Given the description of an element on the screen output the (x, y) to click on. 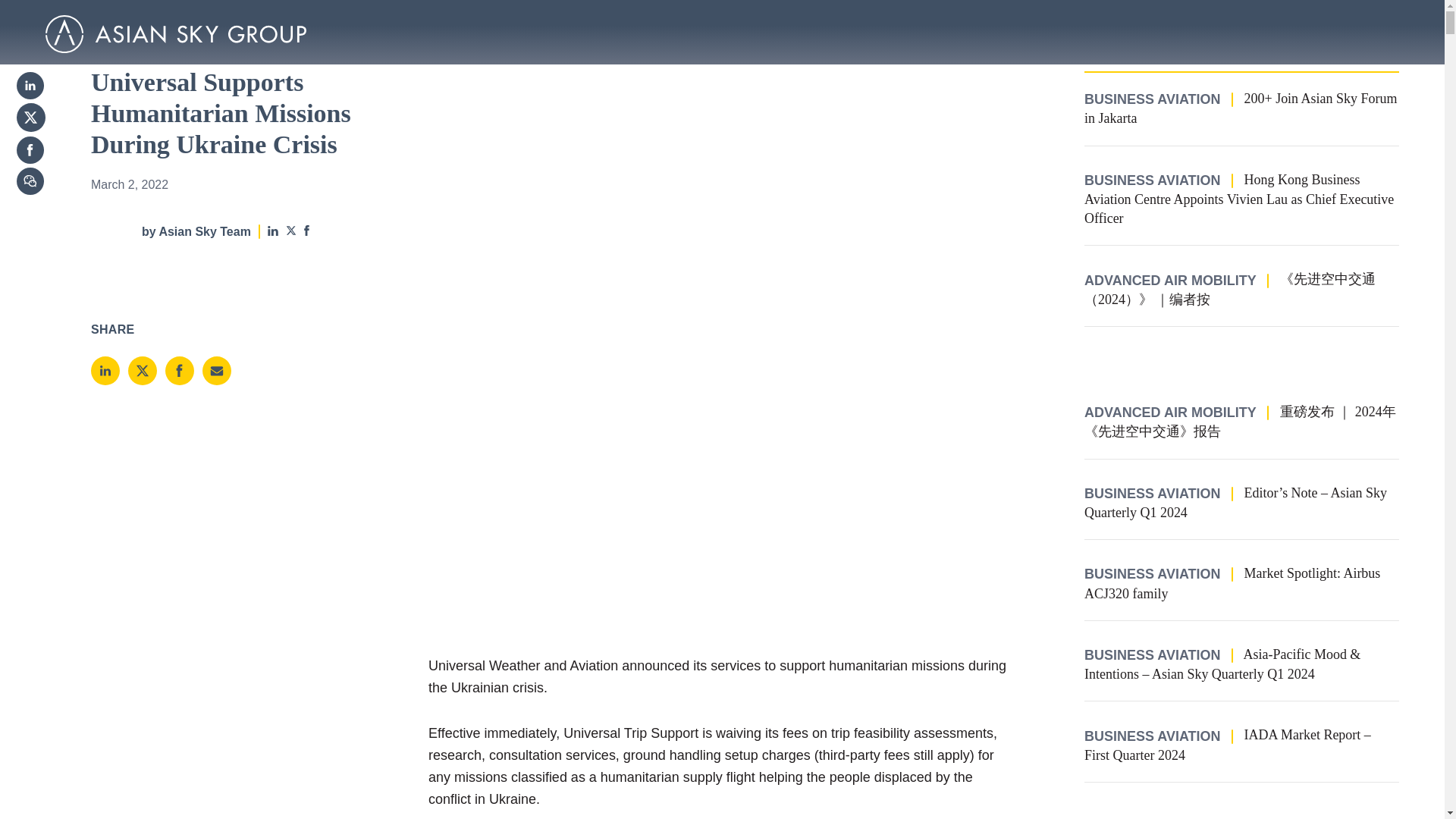
Asian Sky Group (175, 34)
